Given the description of an element on the screen output the (x, y) to click on. 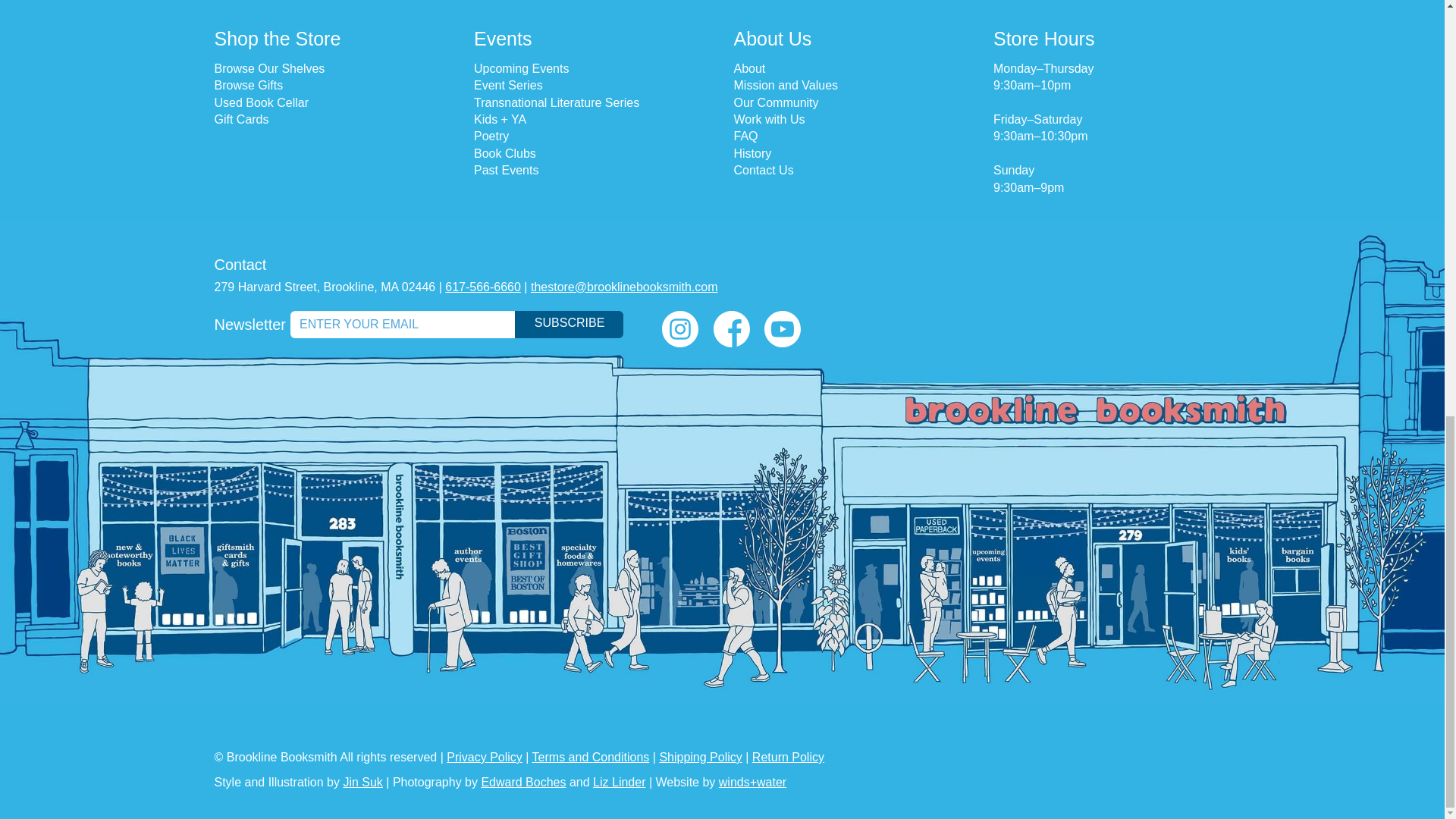
Subscribe (569, 324)
